Given the description of an element on the screen output the (x, y) to click on. 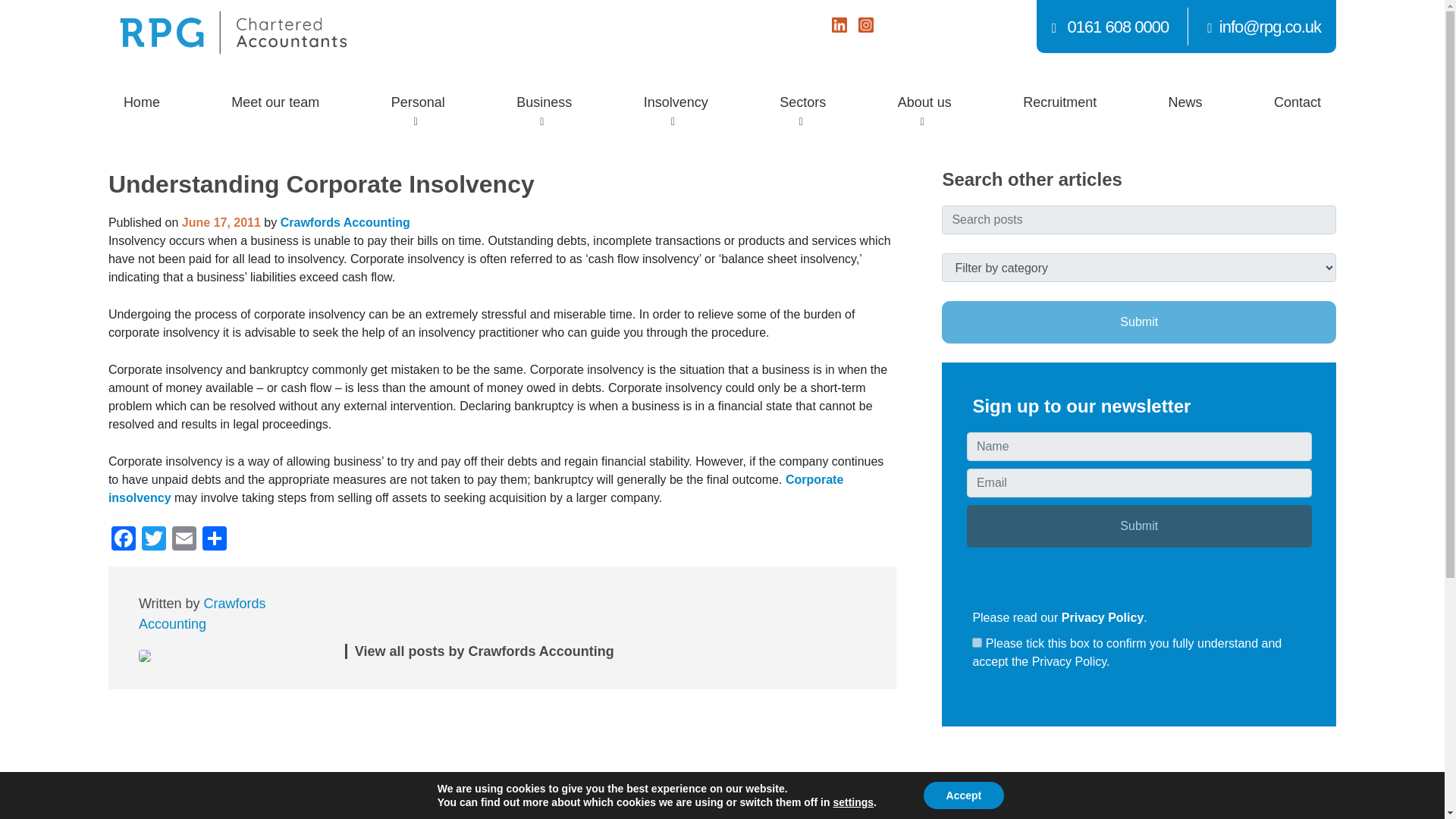
Submit (1138, 526)
Insolvency (675, 102)
Home (140, 102)
0161 608 0000 (1110, 25)
Meet our team (274, 102)
Business (543, 102)
Personal (417, 102)
Sectors (802, 102)
Home (140, 102)
Personal (417, 102)
Business (543, 102)
1 (976, 642)
About us (924, 102)
Meet our team (274, 102)
